Given the description of an element on the screen output the (x, y) to click on. 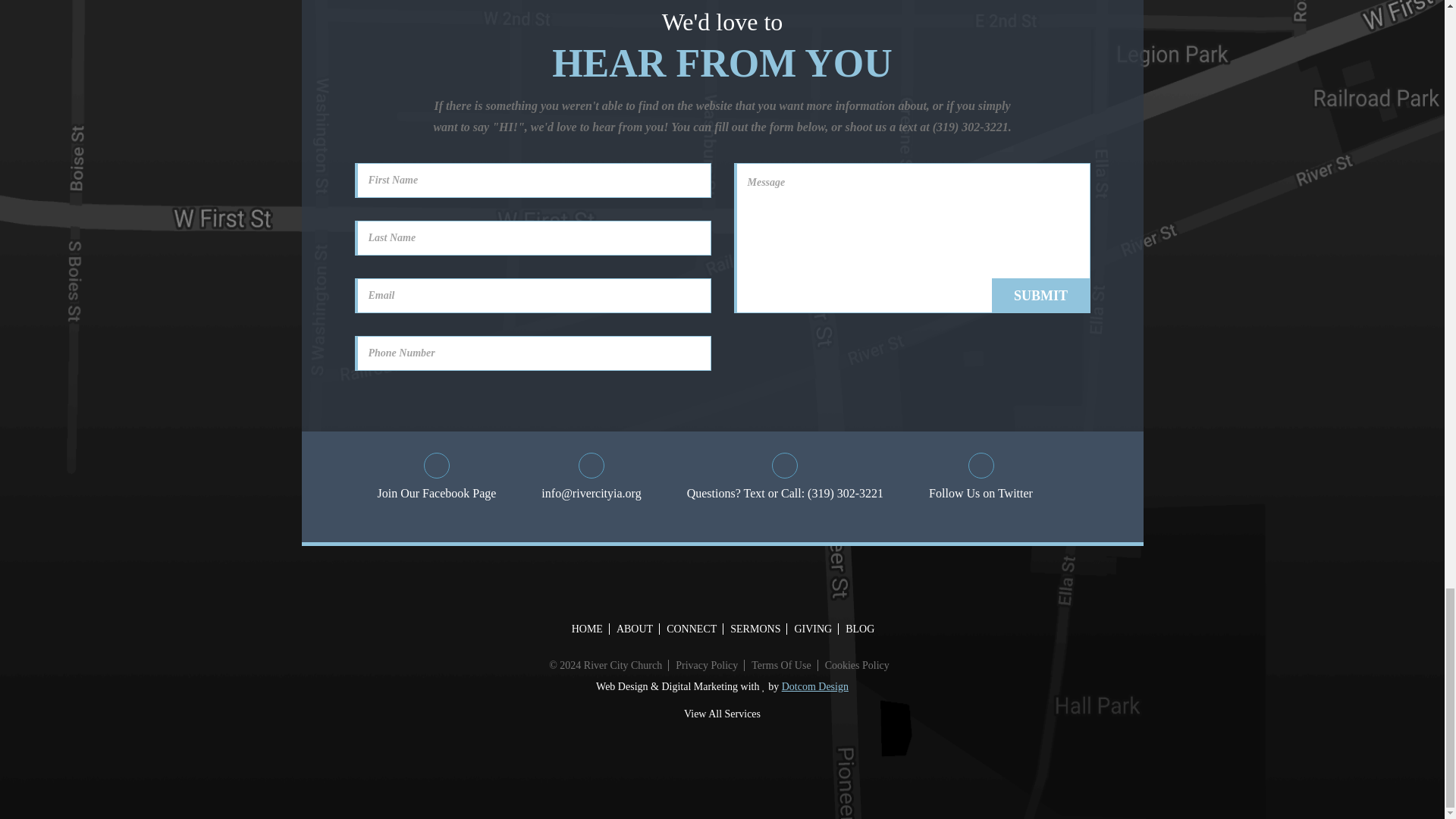
Join Our Facebook Group (436, 477)
Follow Us on Twitter (980, 477)
Submit (1040, 295)
